Given the description of an element on the screen output the (x, y) to click on. 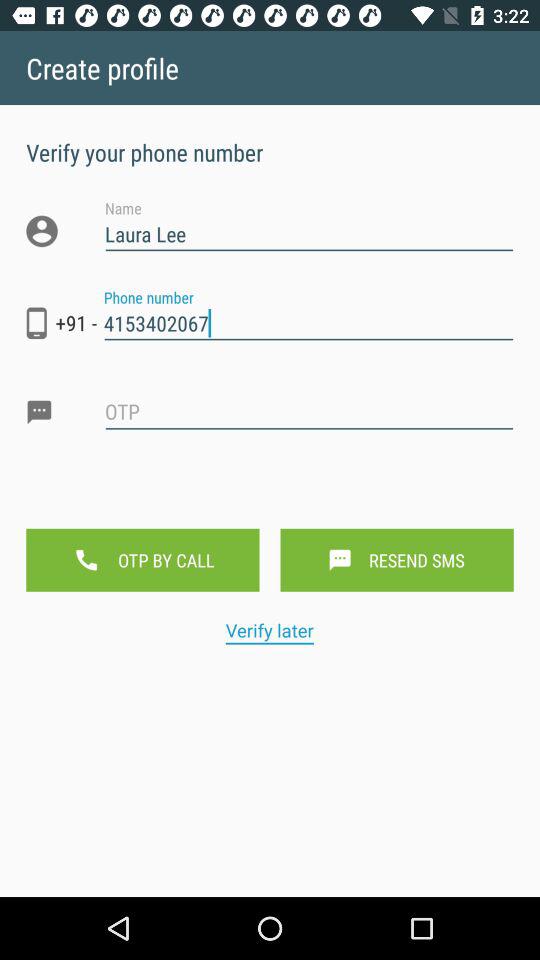
password space (309, 428)
